Given the description of an element on the screen output the (x, y) to click on. 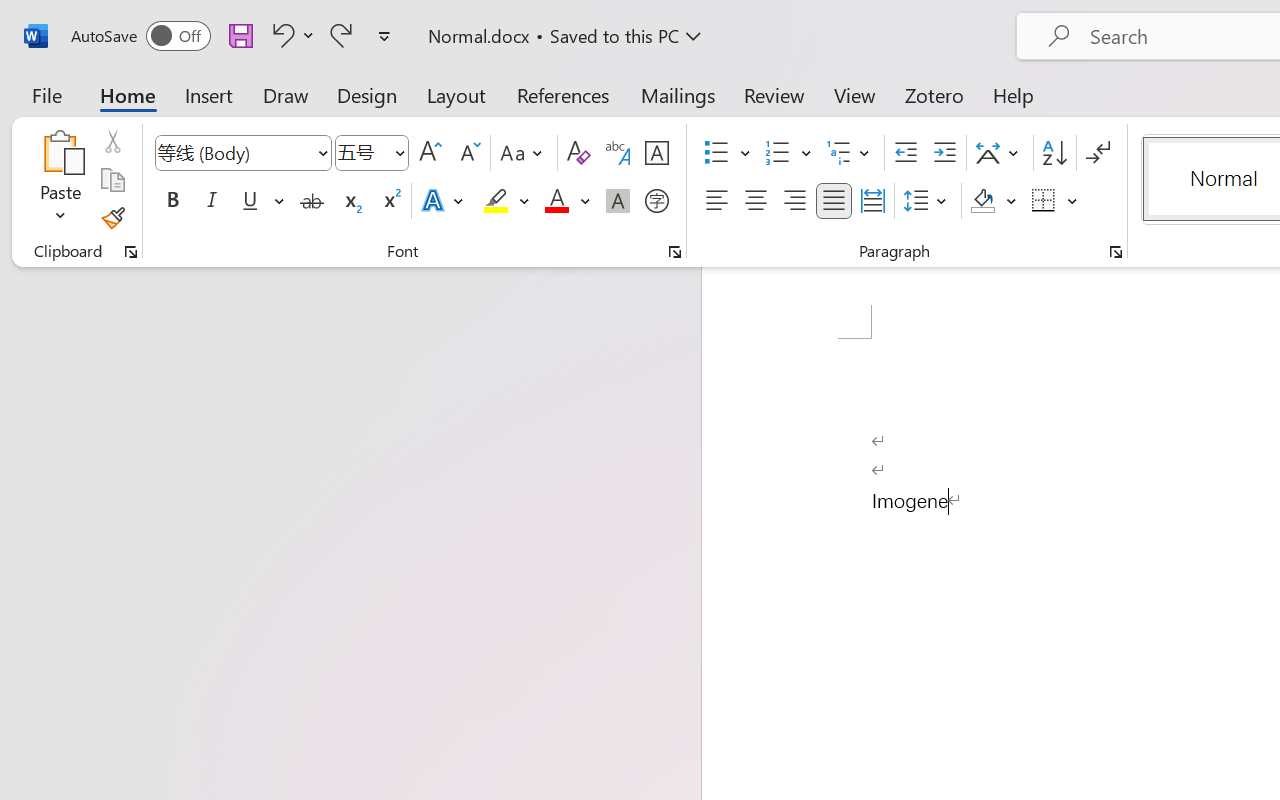
Multilevel List (850, 153)
Enclose Characters... (656, 201)
Undo Typing (290, 35)
Character Shading (618, 201)
Italic (212, 201)
Text Effects and Typography (444, 201)
Open (399, 152)
Font Color (567, 201)
Shrink Font (468, 153)
Shading RGB(0, 0, 0) (982, 201)
Text Highlight Color (506, 201)
